Given the description of an element on the screen output the (x, y) to click on. 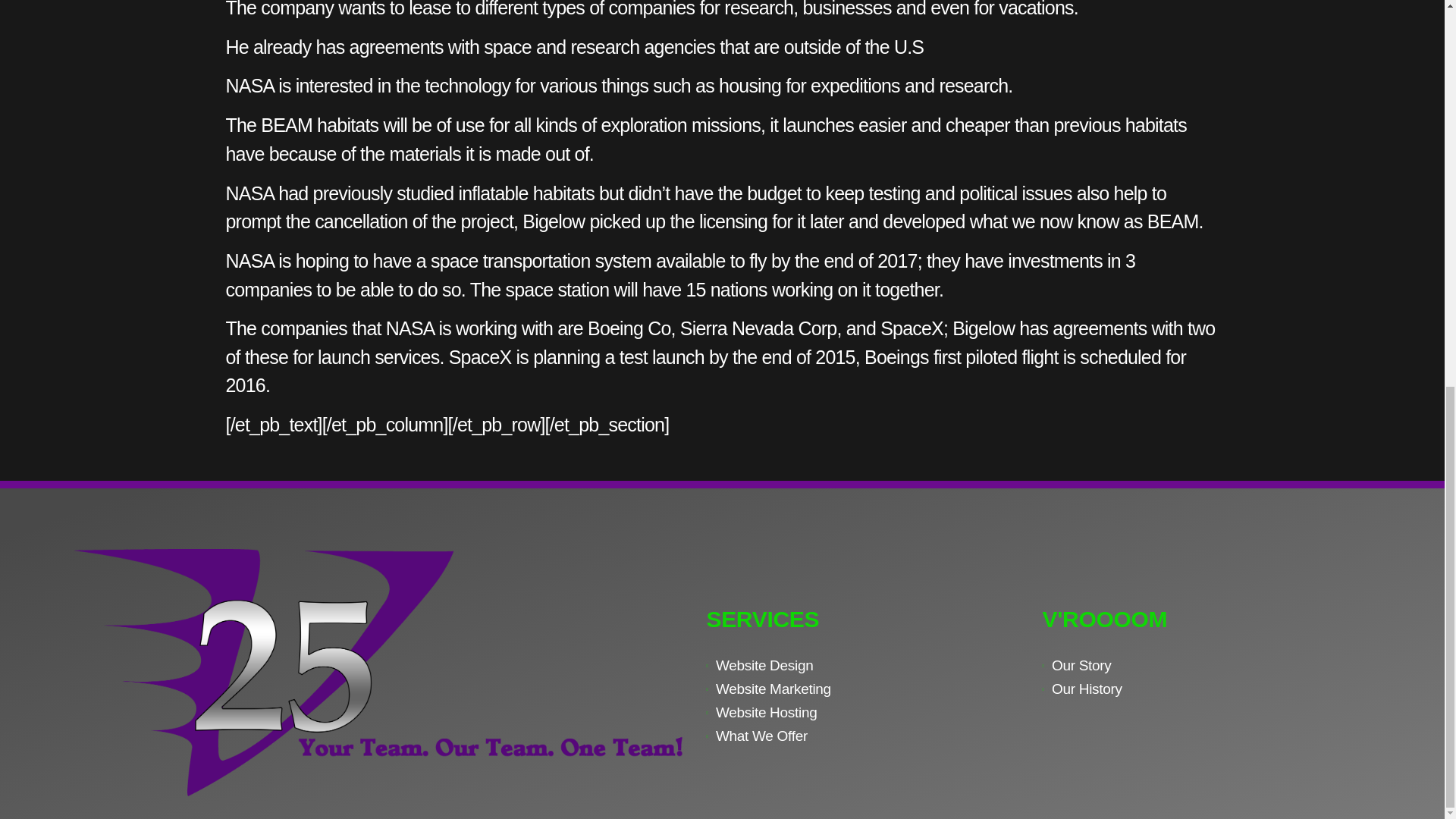
Website Design (866, 665)
Our Story (1202, 665)
What We Offer (866, 736)
Our History (1202, 689)
Website Marketing (866, 689)
Website Hosting (866, 712)
